Given the description of an element on the screen output the (x, y) to click on. 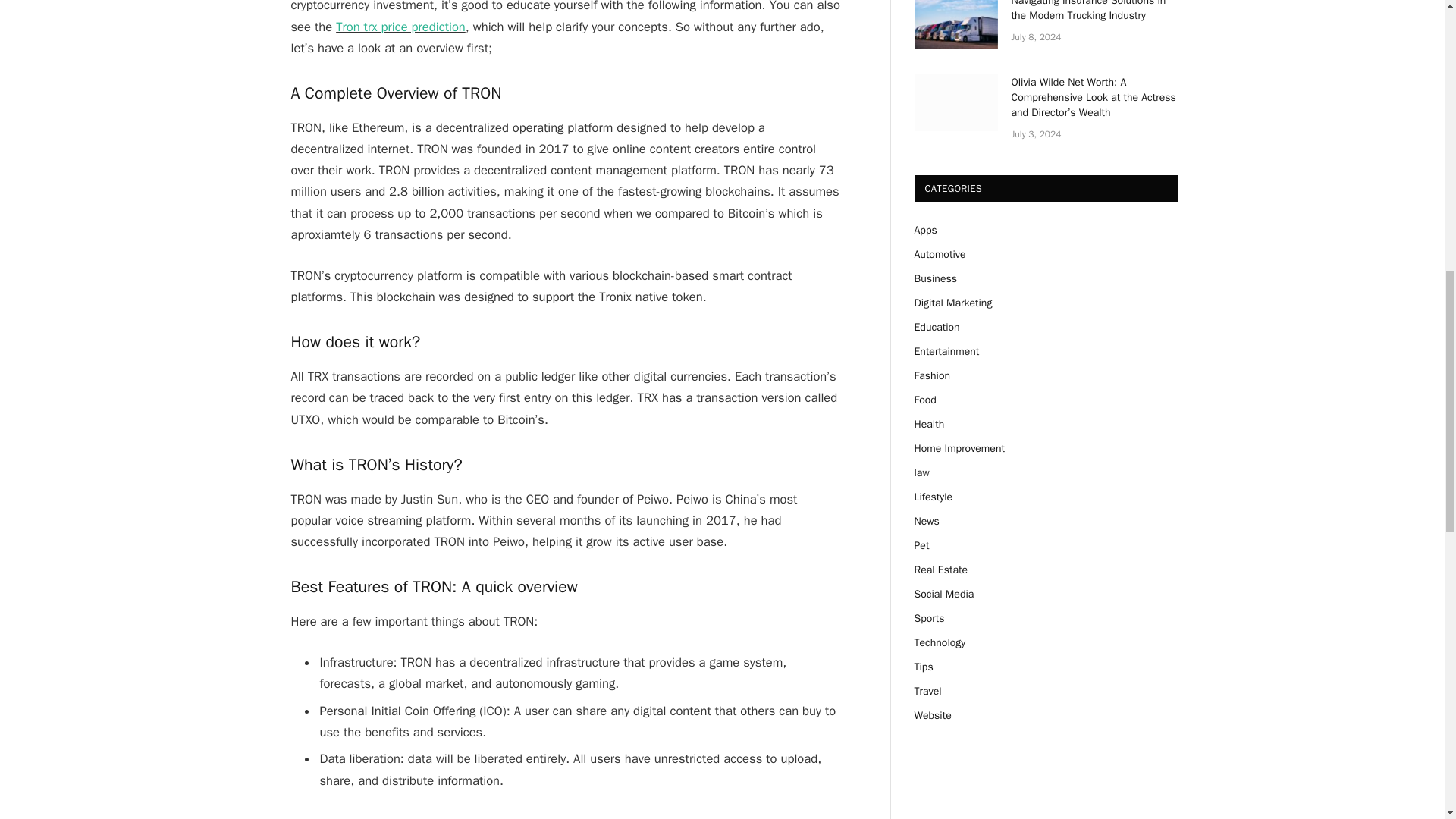
Tron trx price prediction (400, 26)
